Given the description of an element on the screen output the (x, y) to click on. 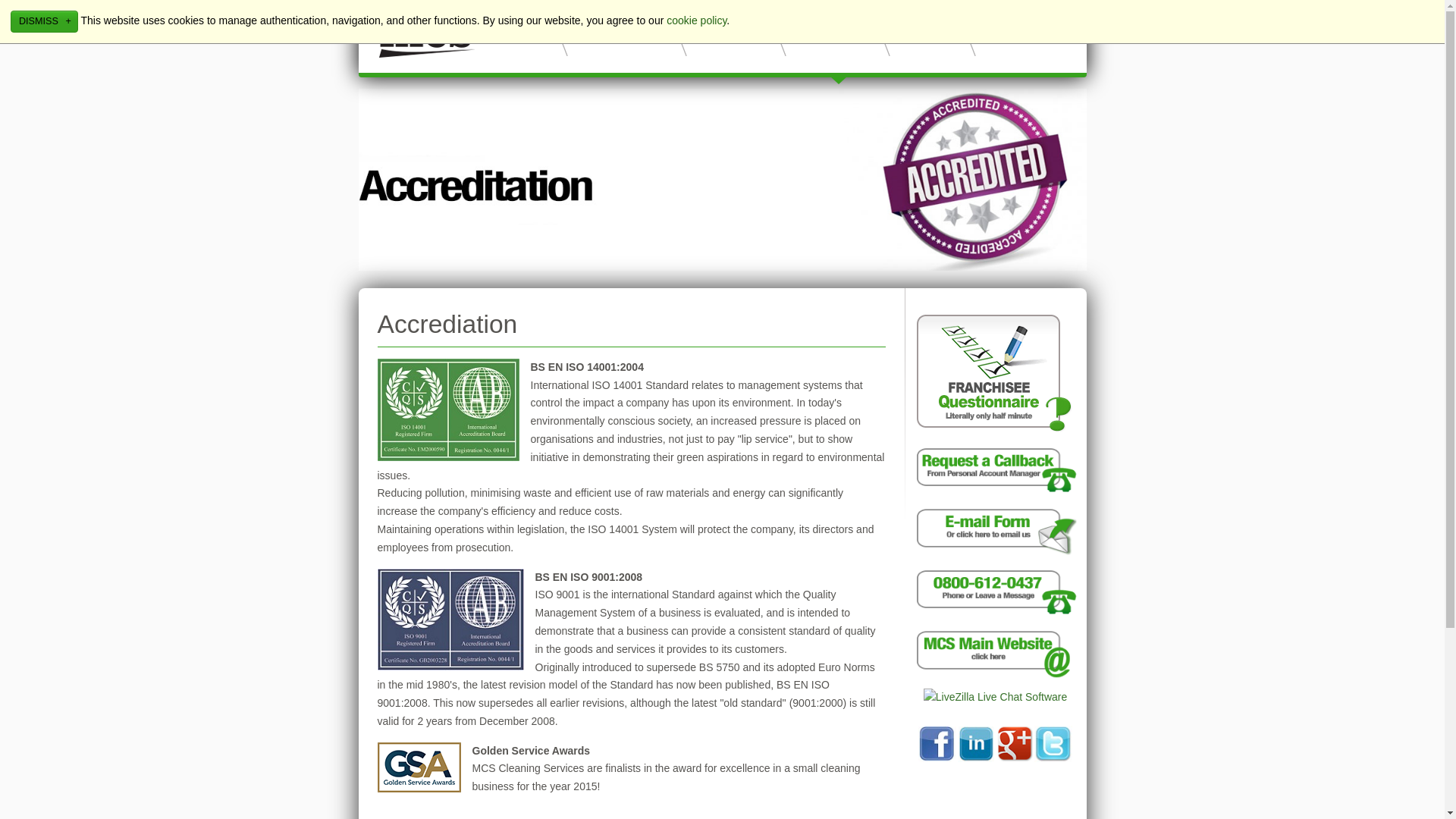
MCS Cleaning Franchise on Facebook (937, 758)
DISMISS (44, 21)
Testimonials (828, 32)
cookie policy (696, 20)
Who are MCS? (617, 32)
MCS Cleaning Services (994, 674)
